Given the description of an element on the screen output the (x, y) to click on. 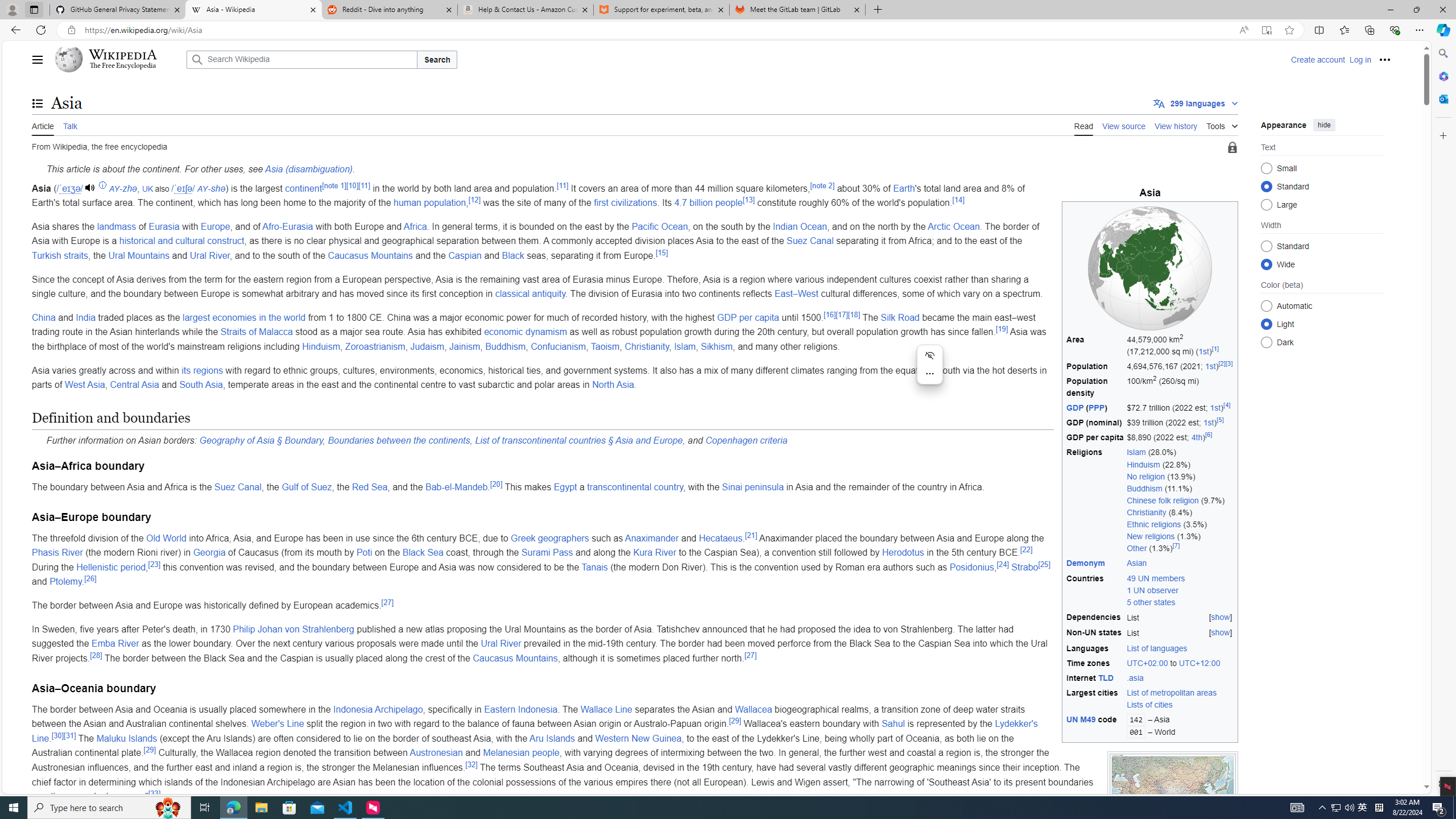
Lists of cities (1180, 704)
Straits of Malacca (255, 331)
[10] (352, 185)
Asia (disambiguation) (308, 169)
Page semi-protected (1232, 147)
Article (42, 124)
Other (1.3%)[7] (1180, 548)
GDP per capita (747, 317)
View history (1176, 124)
Pacific Ocean (659, 226)
Large (1266, 204)
Population density (1095, 387)
